Given the description of an element on the screen output the (x, y) to click on. 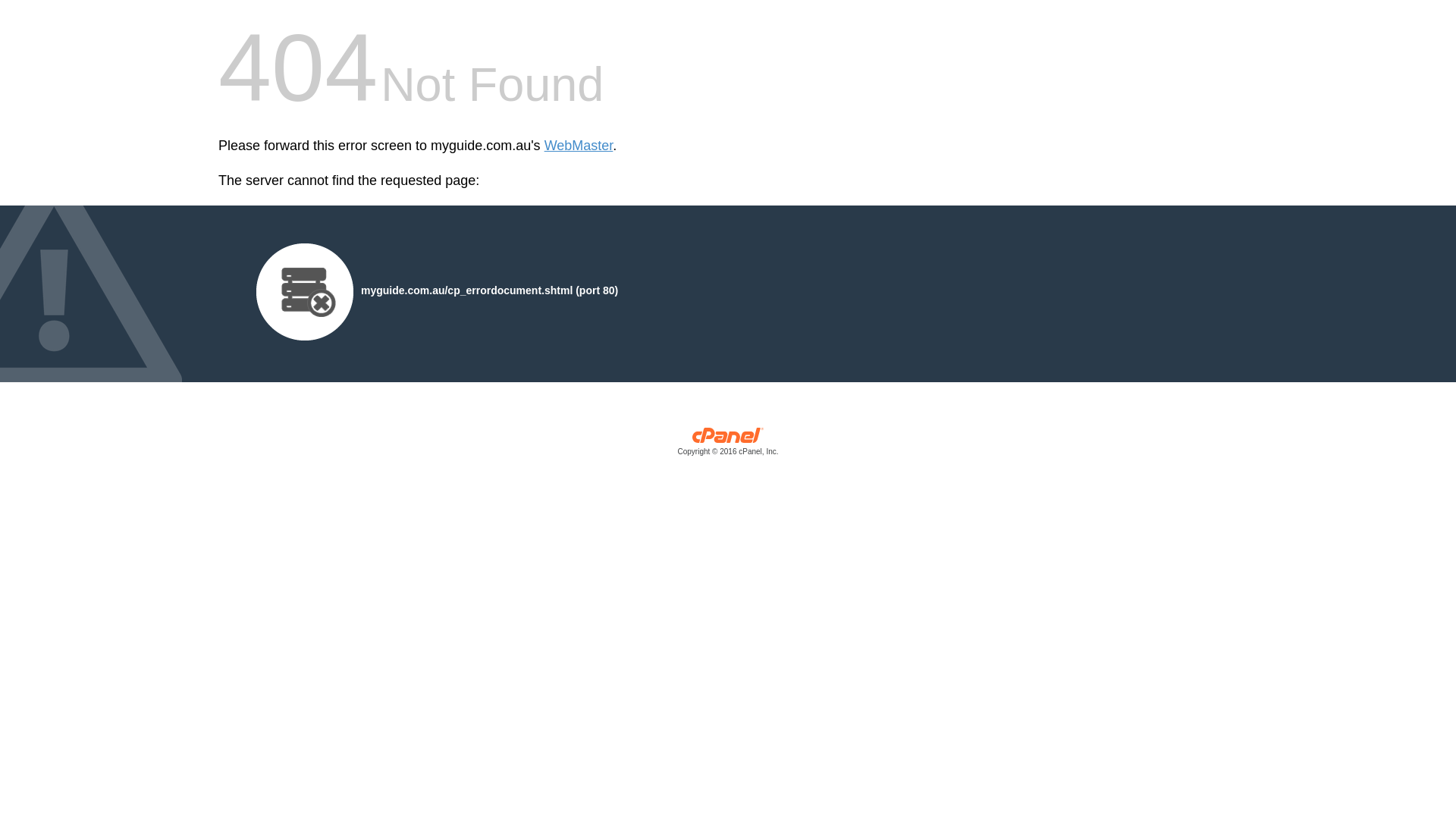
WebMaster Element type: text (578, 145)
